Given the description of an element on the screen output the (x, y) to click on. 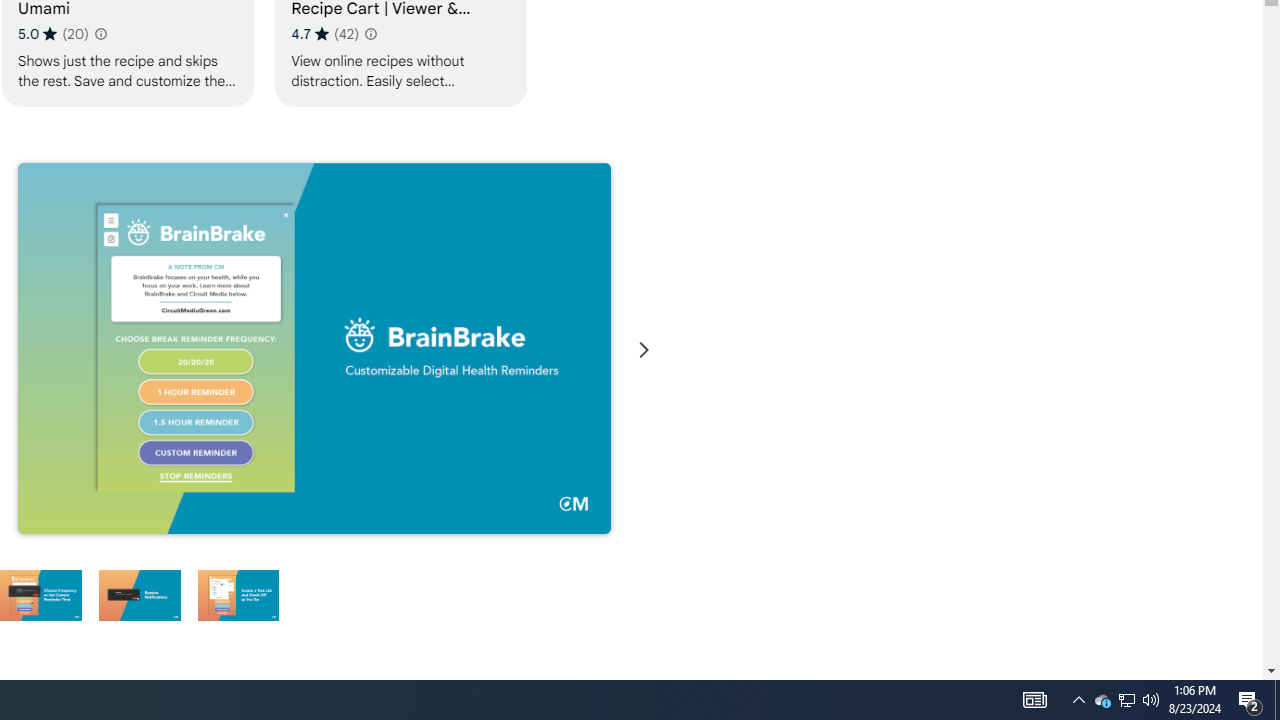
Preview slide 5 (139, 594)
Average rating 5 out of 5 stars. 20 ratings. (53, 33)
Item media 2 screenshot (314, 349)
Average rating 4.7 out of 5 stars. 42 ratings. (324, 33)
Next slide (643, 349)
Preview slide 4 (40, 594)
Item media 2 screenshot (314, 348)
Learn more about results and reviews "Umami" (99, 34)
Preview slide 6 (238, 594)
